Given the description of an element on the screen output the (x, y) to click on. 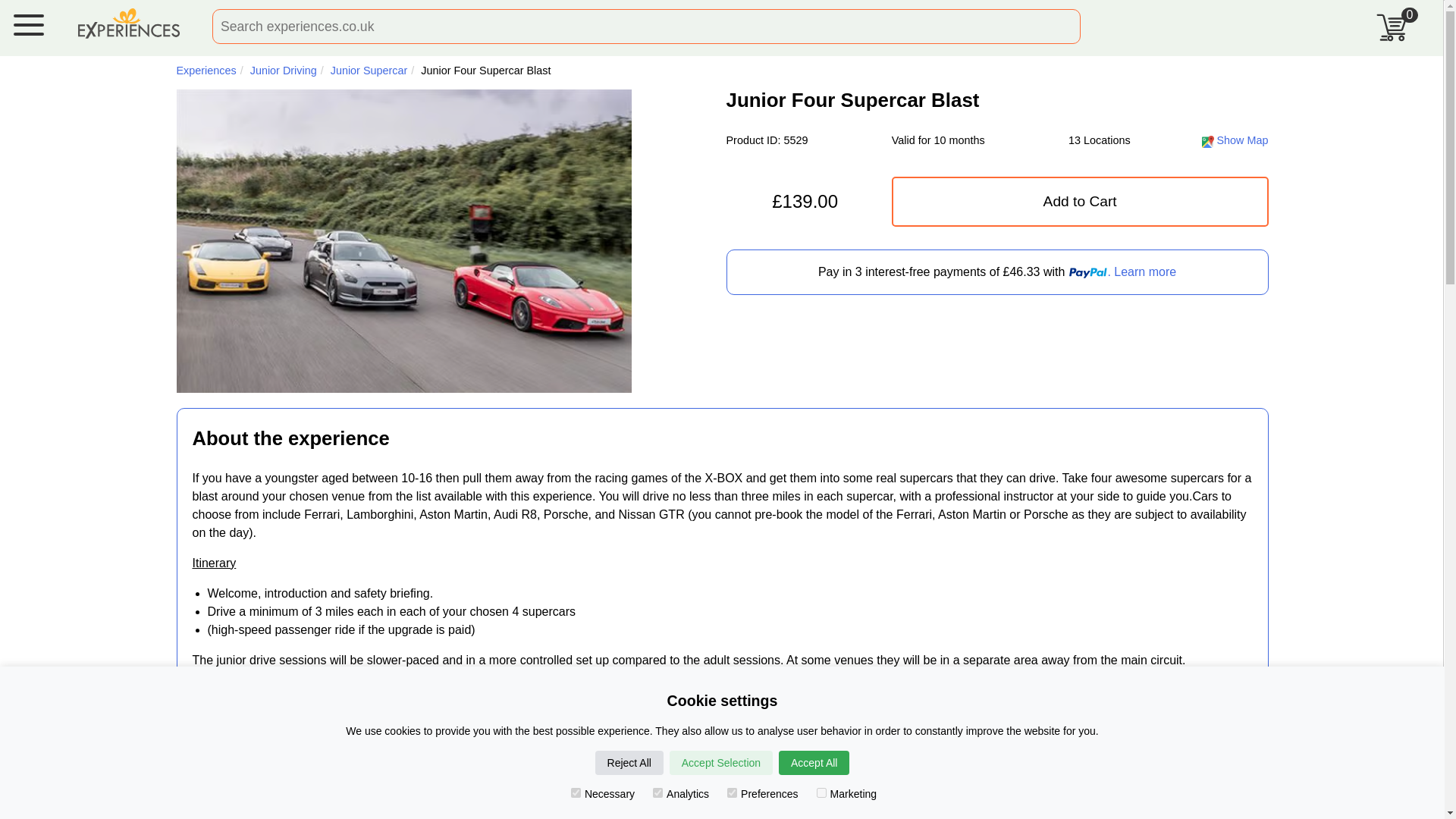
Analytics (657, 792)
Necessary (575, 792)
Preferences (731, 792)
0 (1398, 20)
menu button (27, 27)
Marketing (821, 792)
